Given the description of an element on the screen output the (x, y) to click on. 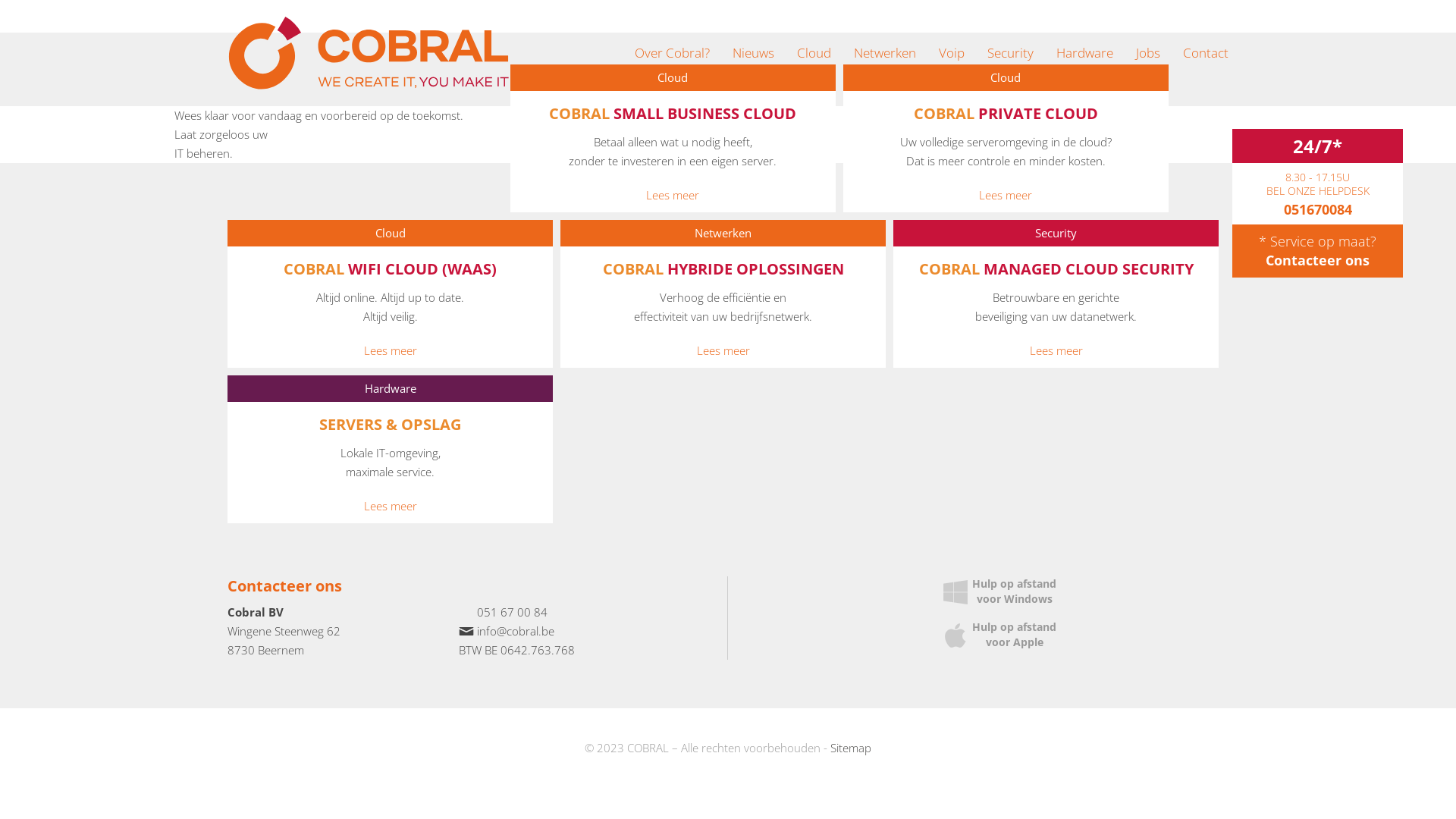
Hulp op afstand
voor Windows Element type: text (997, 591)
Lees meer Element type: text (672, 194)
Security Element type: text (1010, 52)
Netwerken Element type: text (884, 52)
Jobs Element type: text (1147, 52)
Lees meer Element type: text (722, 350)
Cloud Element type: text (814, 52)
Hulp op afstand
voor Apple Element type: text (997, 634)
Contact Element type: text (1205, 52)
Nieuws Element type: text (753, 52)
Voip Element type: text (951, 52)
Lees meer Element type: text (1055, 350)
Lees meer Element type: text (389, 505)
Lees meer Element type: text (389, 350)
Hardware Element type: text (1084, 52)
Sitemap Element type: text (850, 747)
Contacteer ons Element type: text (1317, 260)
info@cobral.be Element type: text (514, 630)
Lees meer Element type: text (1005, 194)
Over Cobral? Element type: text (671, 52)
